Given the description of an element on the screen output the (x, y) to click on. 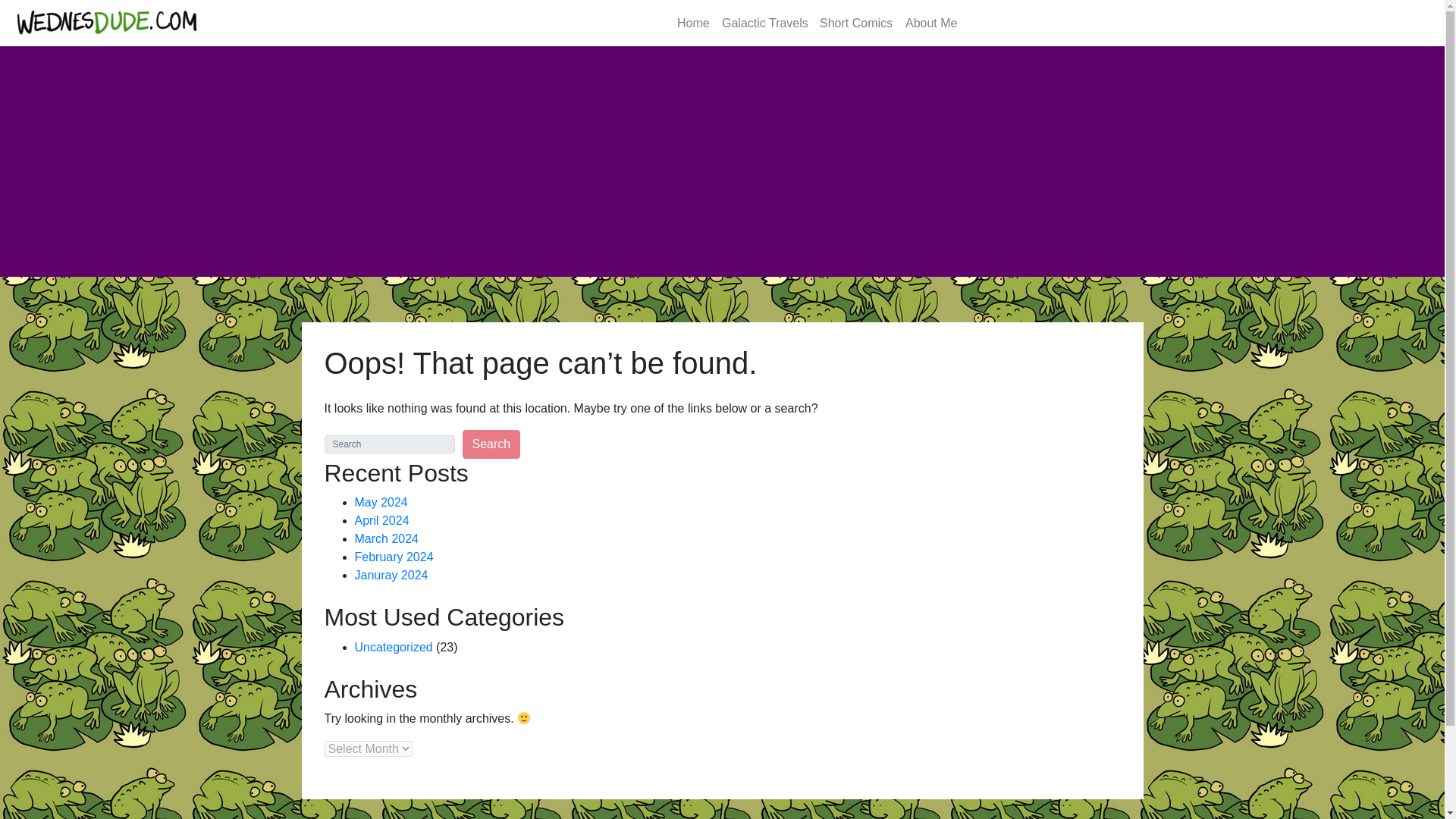
About Me (930, 22)
May 2024 (381, 502)
About Me (930, 22)
Home (693, 22)
Home (693, 22)
Januray 2024 (391, 574)
Short Comics (855, 22)
Short Comics (855, 22)
April 2024 (382, 520)
Galactic Travels (764, 22)
Uncategorized (393, 646)
Galactic Travels (764, 22)
February 2024 (394, 556)
Search (492, 443)
March 2024 (387, 538)
